Given the description of an element on the screen output the (x, y) to click on. 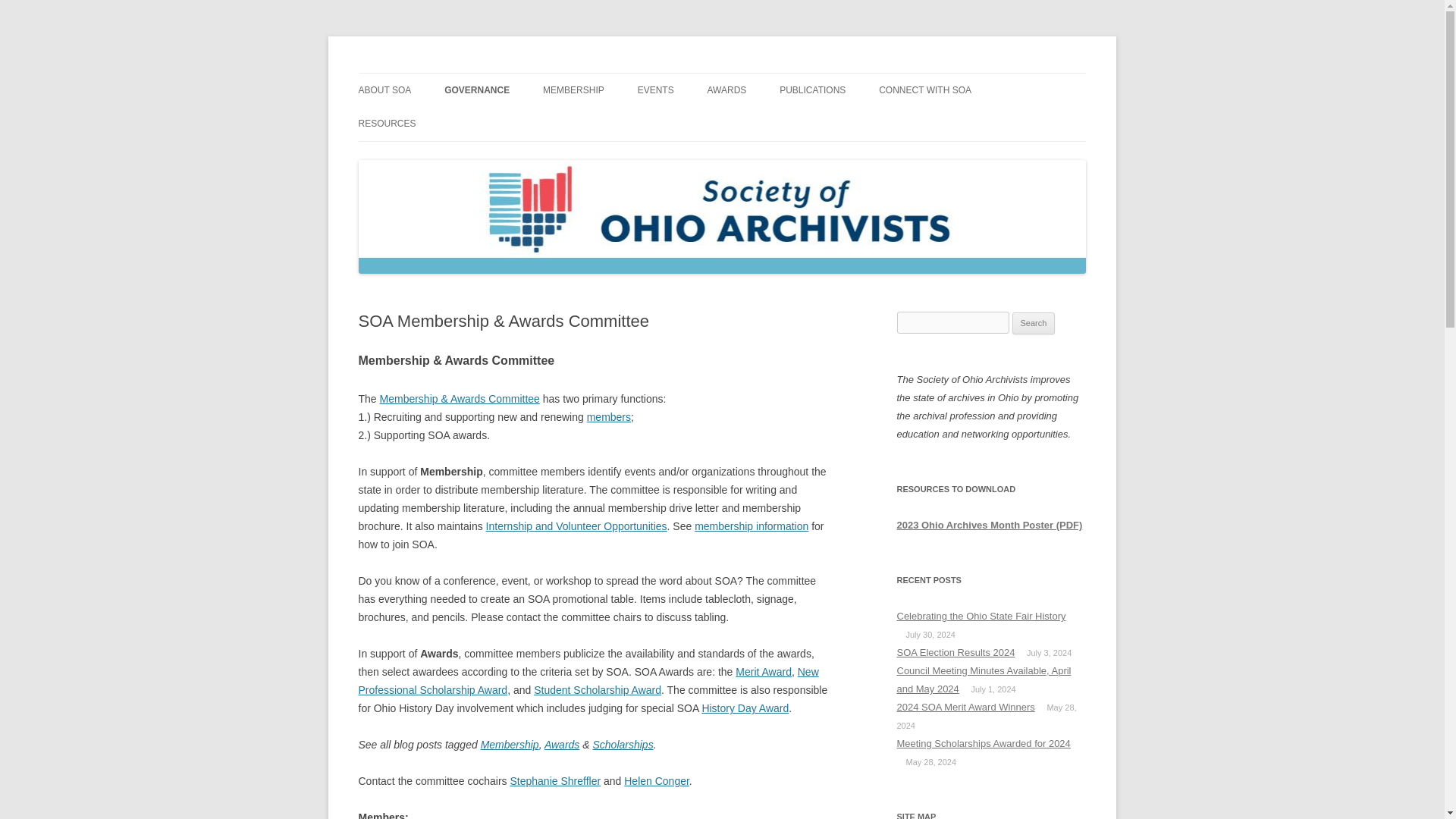
MEMBERSHIP (573, 90)
Search (1033, 323)
HISTORY DAY AWARDS (783, 122)
Society of Ohio Archivists (480, 72)
MEMBERSHIP INFORMATION (618, 122)
PUBLICATIONS (811, 90)
ANNUAL CONFERENCES (713, 122)
GOVERNANCE (476, 90)
AWARDS (726, 90)
CONNECT WITH SOA (925, 90)
OHIO ARCHIVIST (854, 122)
EVENTS (655, 90)
SOA LISTSERV (954, 122)
ABOUT SOA (384, 90)
